Given the description of an element on the screen output the (x, y) to click on. 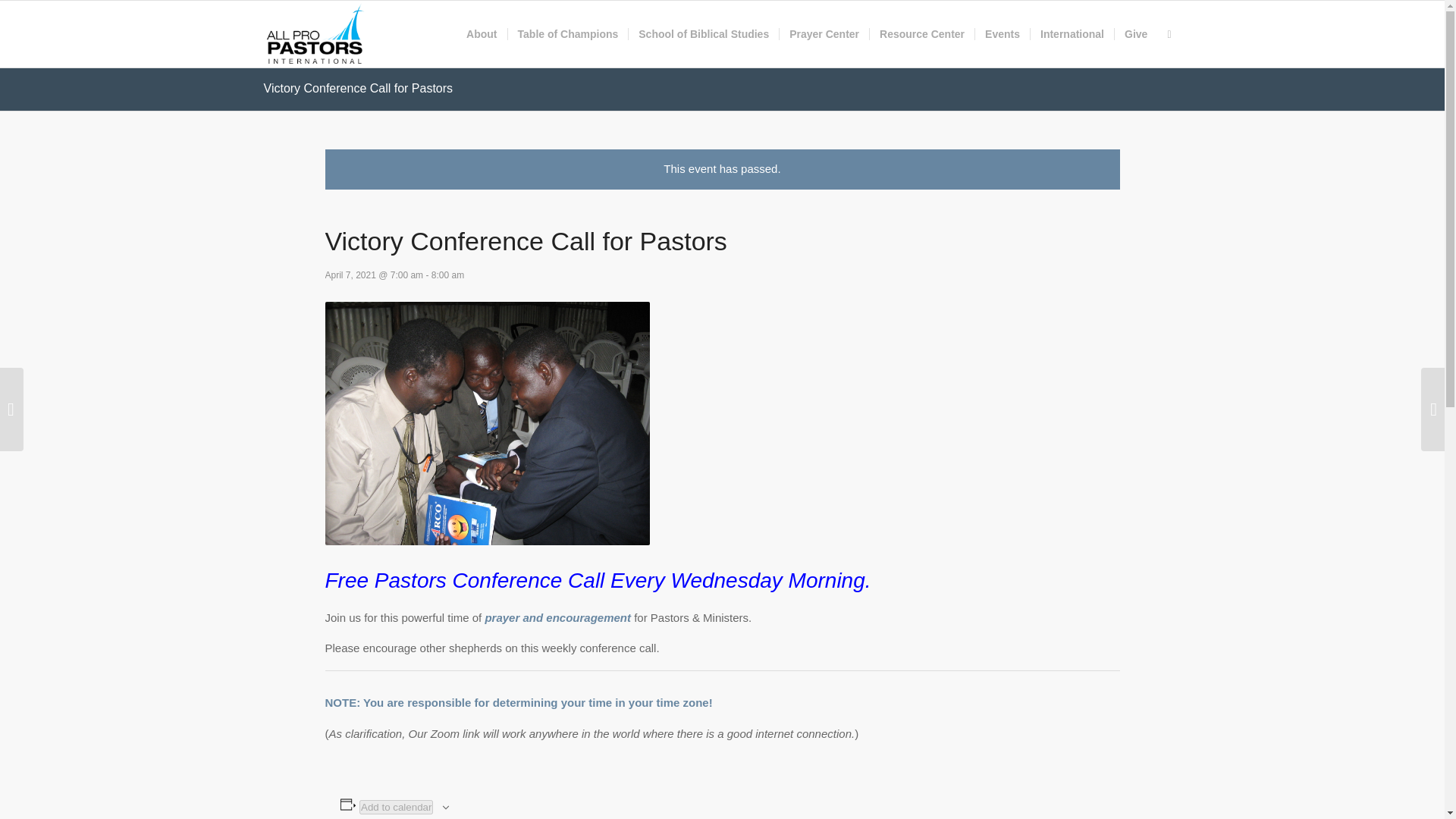
Table of Champions (567, 33)
Prayer Center (823, 33)
School of Biblical Studies (702, 33)
Resource Center (921, 33)
